Given the description of an element on the screen output the (x, y) to click on. 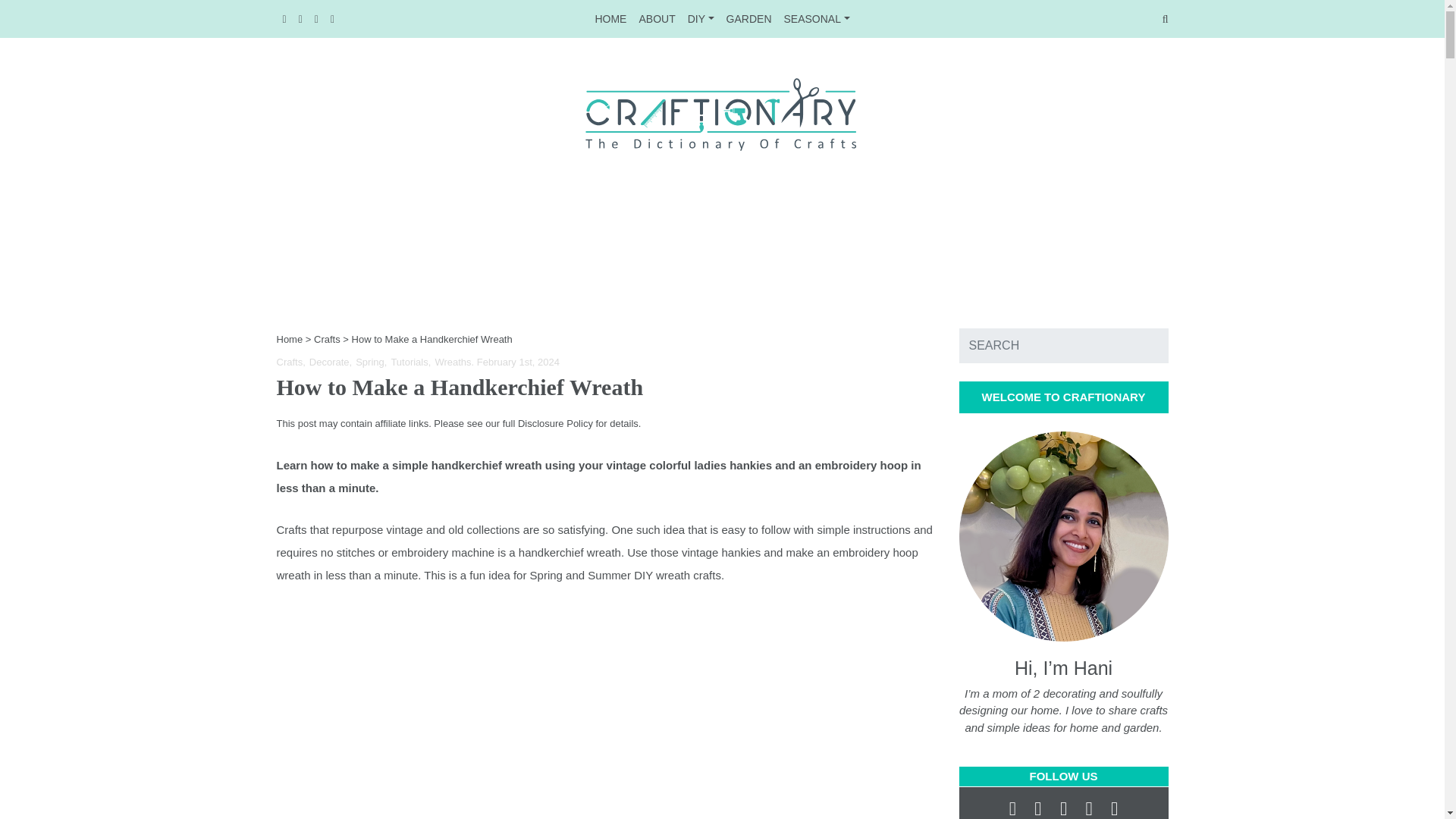
Tutorials (410, 361)
GARDEN (748, 18)
HOME (609, 18)
Decorate (330, 361)
ABOUT (656, 18)
DIY (700, 18)
Home (289, 338)
Spring (371, 361)
Crafts (722, 18)
Crafts (327, 338)
Wreaths (290, 361)
SEASONAL (451, 361)
